Given the description of an element on the screen output the (x, y) to click on. 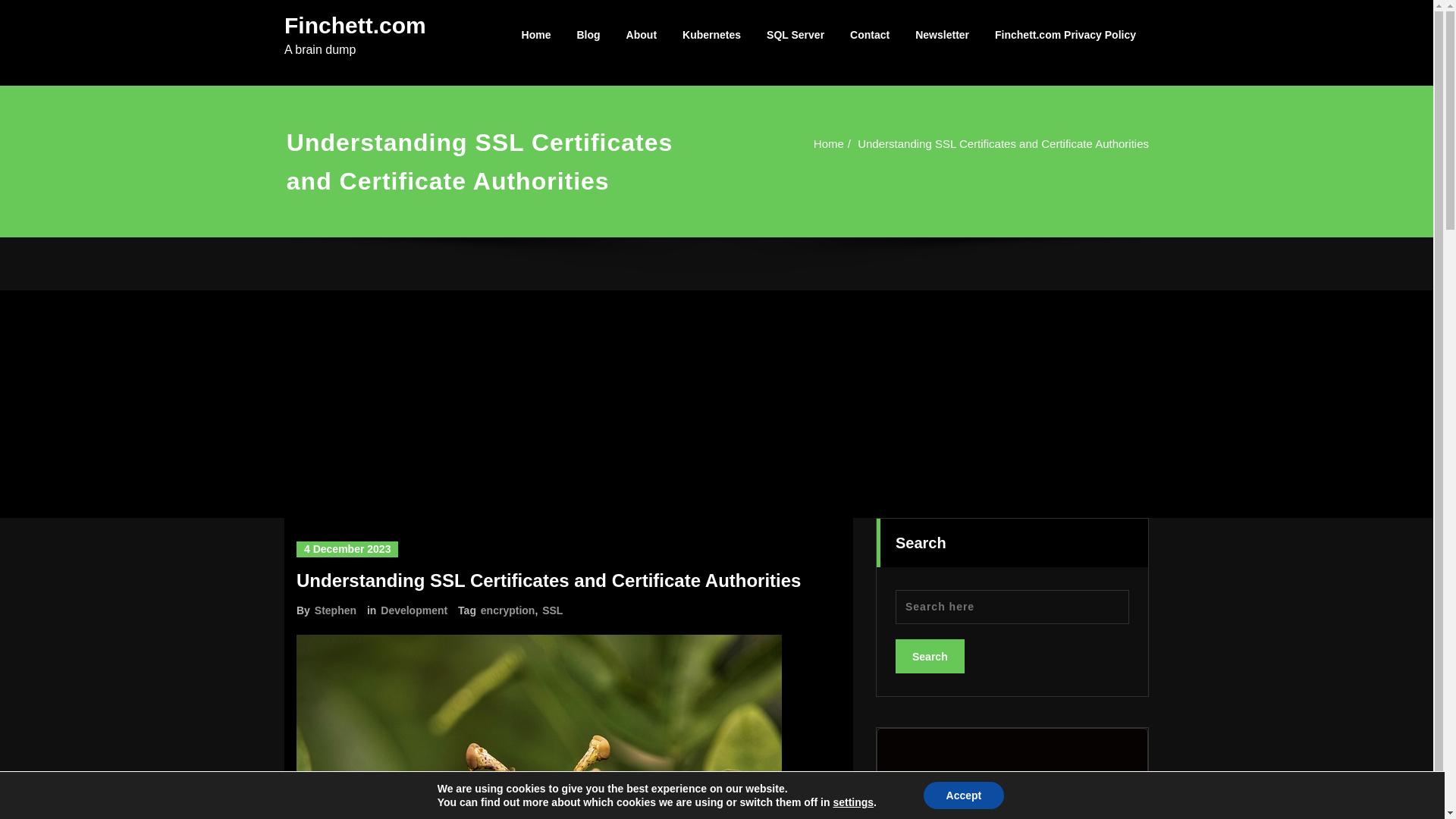
Finchett.com (354, 25)
encryption (507, 610)
Home (812, 143)
Development (412, 610)
Search (929, 656)
How Traffic is Encrypted and Decrypted (1005, 815)
SQL Server (795, 34)
Kubernetes (711, 34)
